Given the description of an element on the screen output the (x, y) to click on. 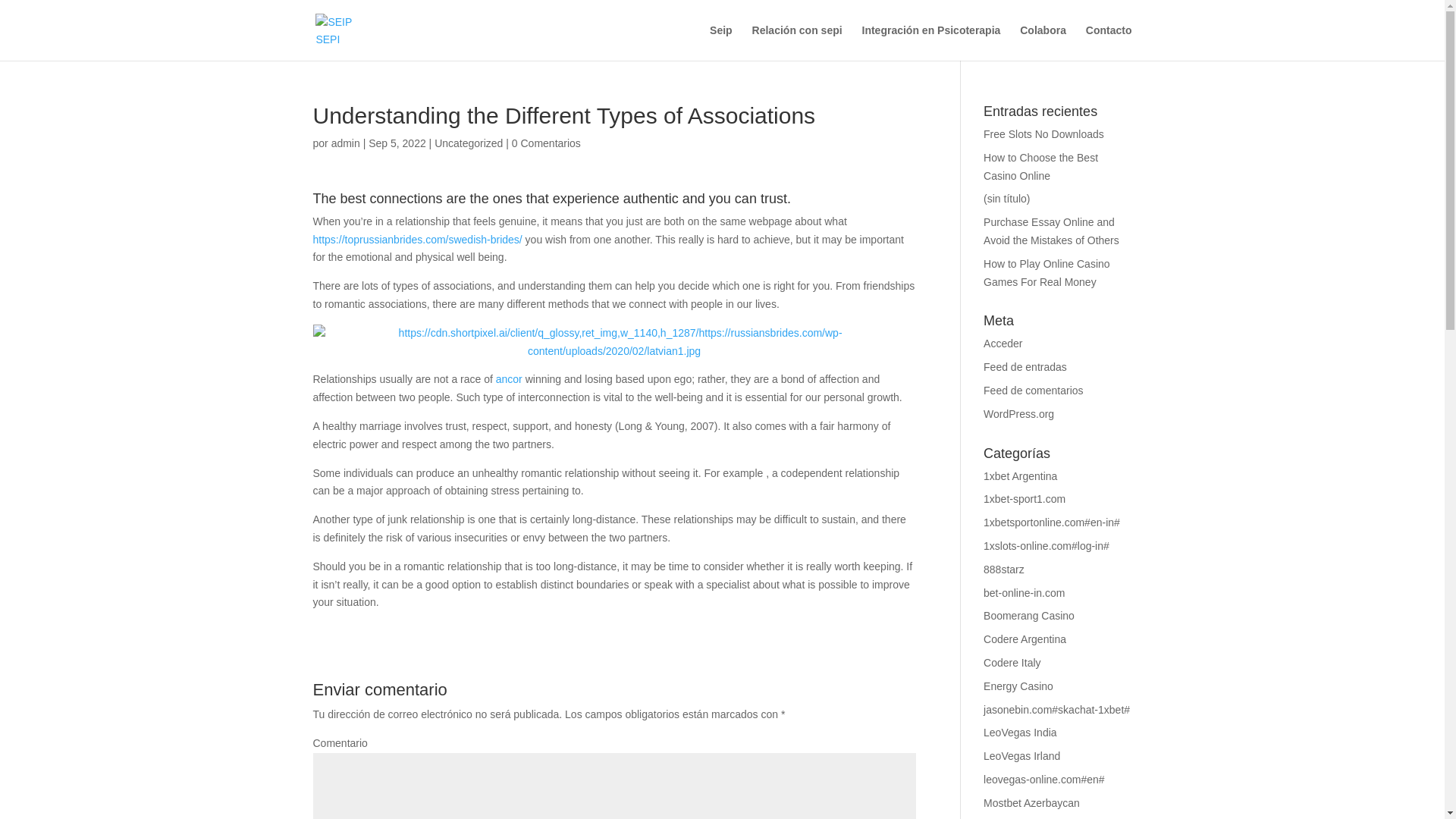
Mostbet Azerbaycan (1032, 802)
1xbet Argentina (1020, 476)
WordPress.org (1019, 413)
bet-online-in.com (1024, 592)
Free Slots No Downloads (1043, 133)
Feed de entradas (1025, 367)
Codere Argentina (1024, 639)
How to Play Online Casino Games For Real Money (1046, 272)
0 Comentarios (546, 143)
1xbet-sport1.com (1024, 499)
